Given the description of an element on the screen output the (x, y) to click on. 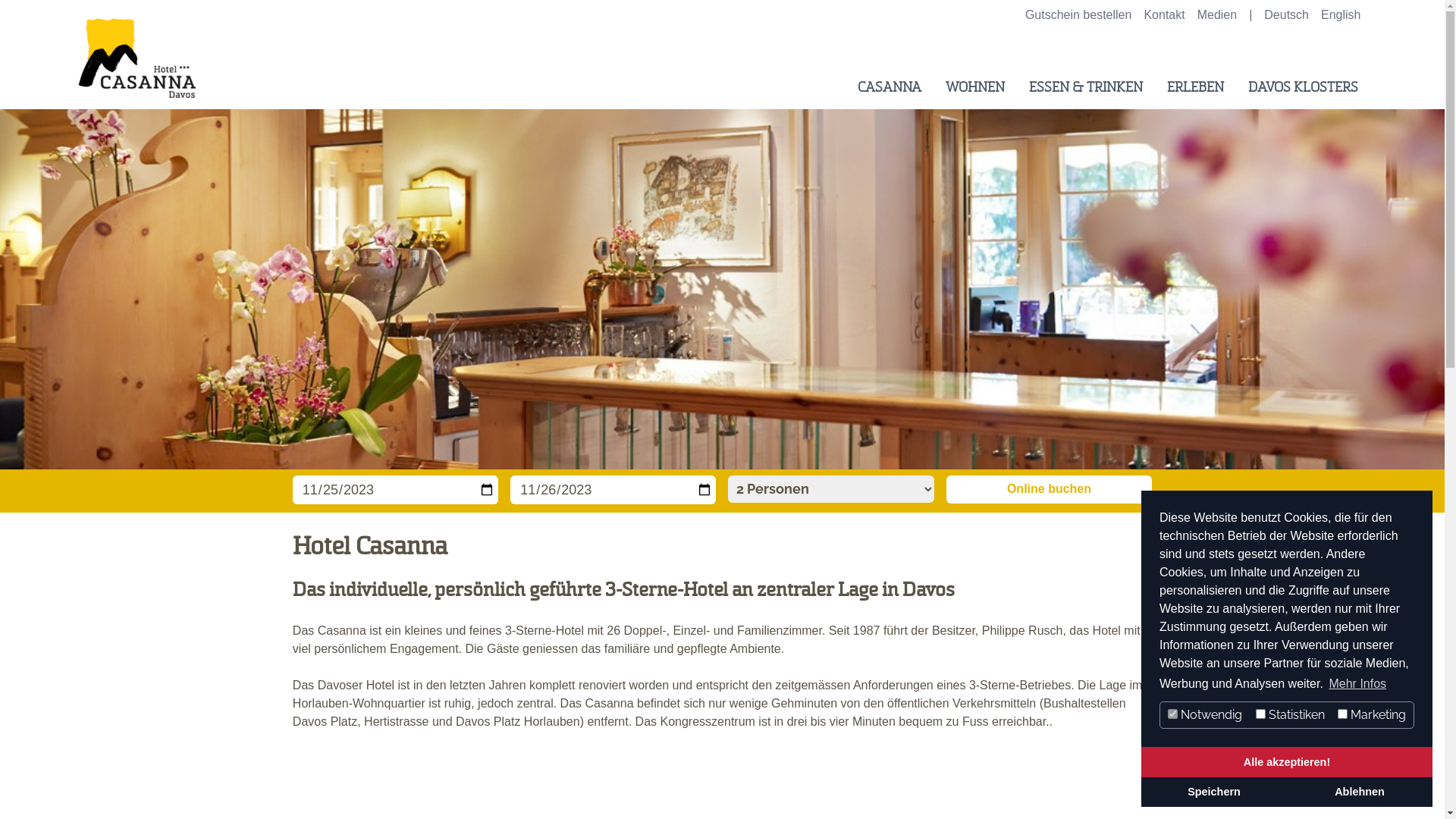
English Element type: text (1340, 14)
Deutsch Element type: text (1286, 14)
Alle akzeptieren! Element type: text (1286, 761)
ESSEN & TRINKEN Element type: text (1079, 87)
Speichern Element type: text (1213, 791)
CASANNA Element type: text (888, 86)
WOHNEN Element type: text (968, 87)
Medien Element type: text (1216, 14)
ERLEBEN Element type: text (1194, 86)
Online buchen Element type: text (1048, 489)
ERLEBEN Element type: text (1188, 87)
Gutschein bestellen Element type: text (1078, 14)
ESSEN & TRINKEN Element type: text (1085, 86)
CASANNA Element type: text (882, 87)
Mehr Infos Element type: text (1357, 683)
WOHNEN Element type: text (974, 86)
DAVOS KLOSTERS Element type: text (1303, 86)
Ablehnen Element type: text (1359, 791)
Kontakt Element type: text (1163, 14)
DAVOS KLOSTERS Element type: text (1297, 87)
